Given the description of an element on the screen output the (x, y) to click on. 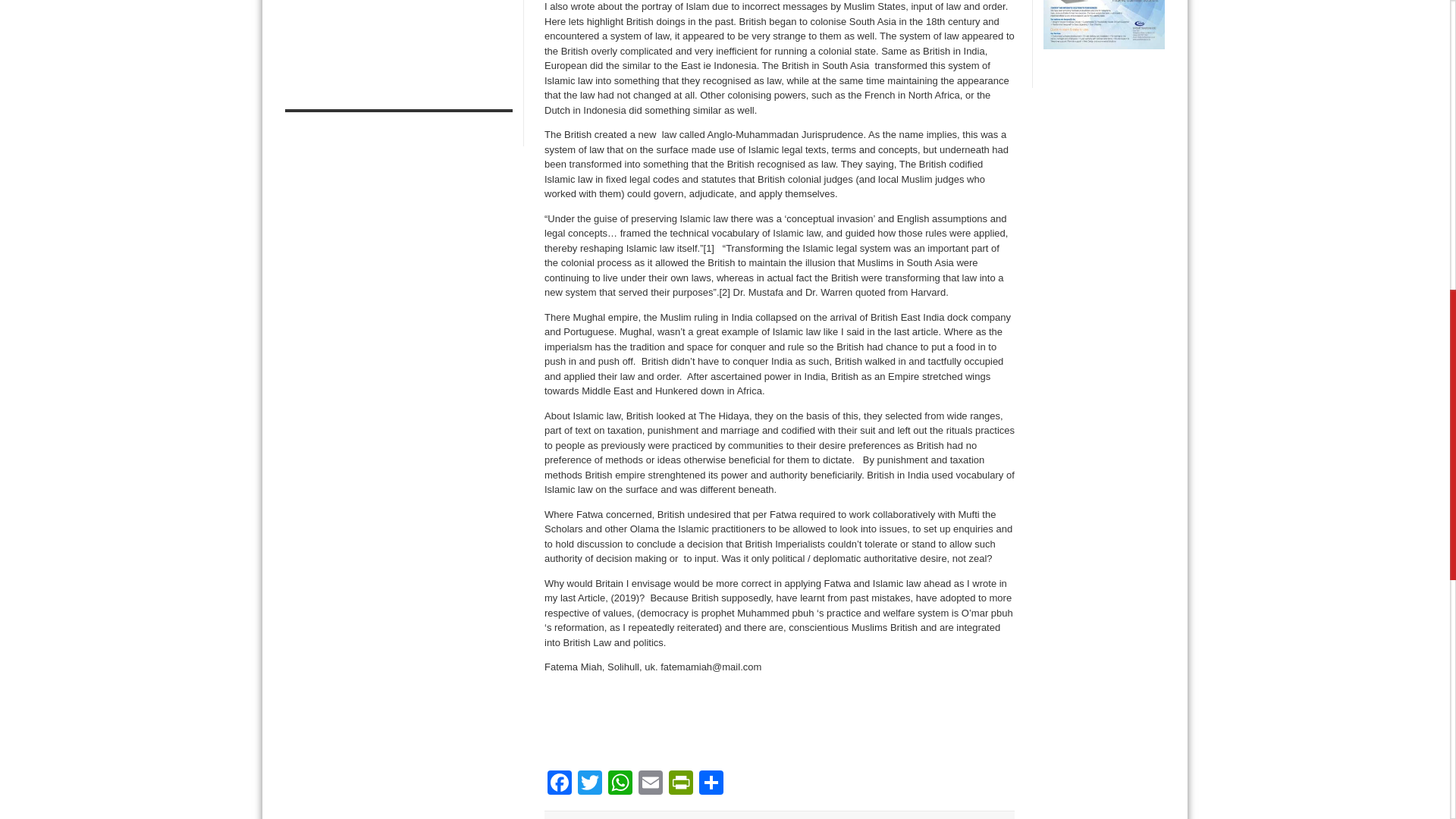
WhatsApp (619, 784)
Email (649, 784)
Twitter (590, 784)
Twitter (590, 784)
WhatsApp (619, 784)
PrintFriendly (680, 784)
Facebook (559, 784)
PrintFriendly (680, 784)
Email (649, 784)
